Given the description of an element on the screen output the (x, y) to click on. 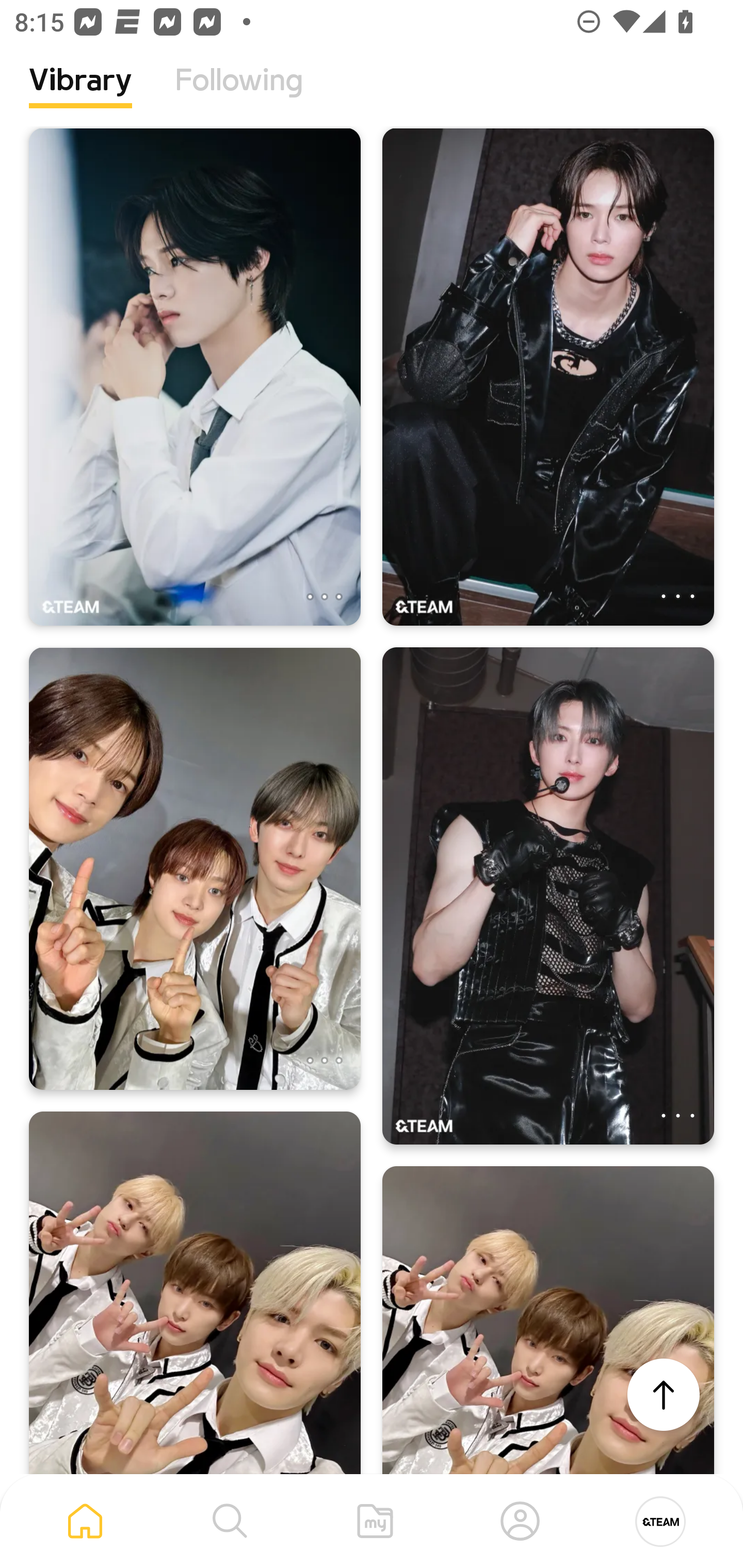
Vibrary (80, 95)
Following (239, 95)
